Given the description of an element on the screen output the (x, y) to click on. 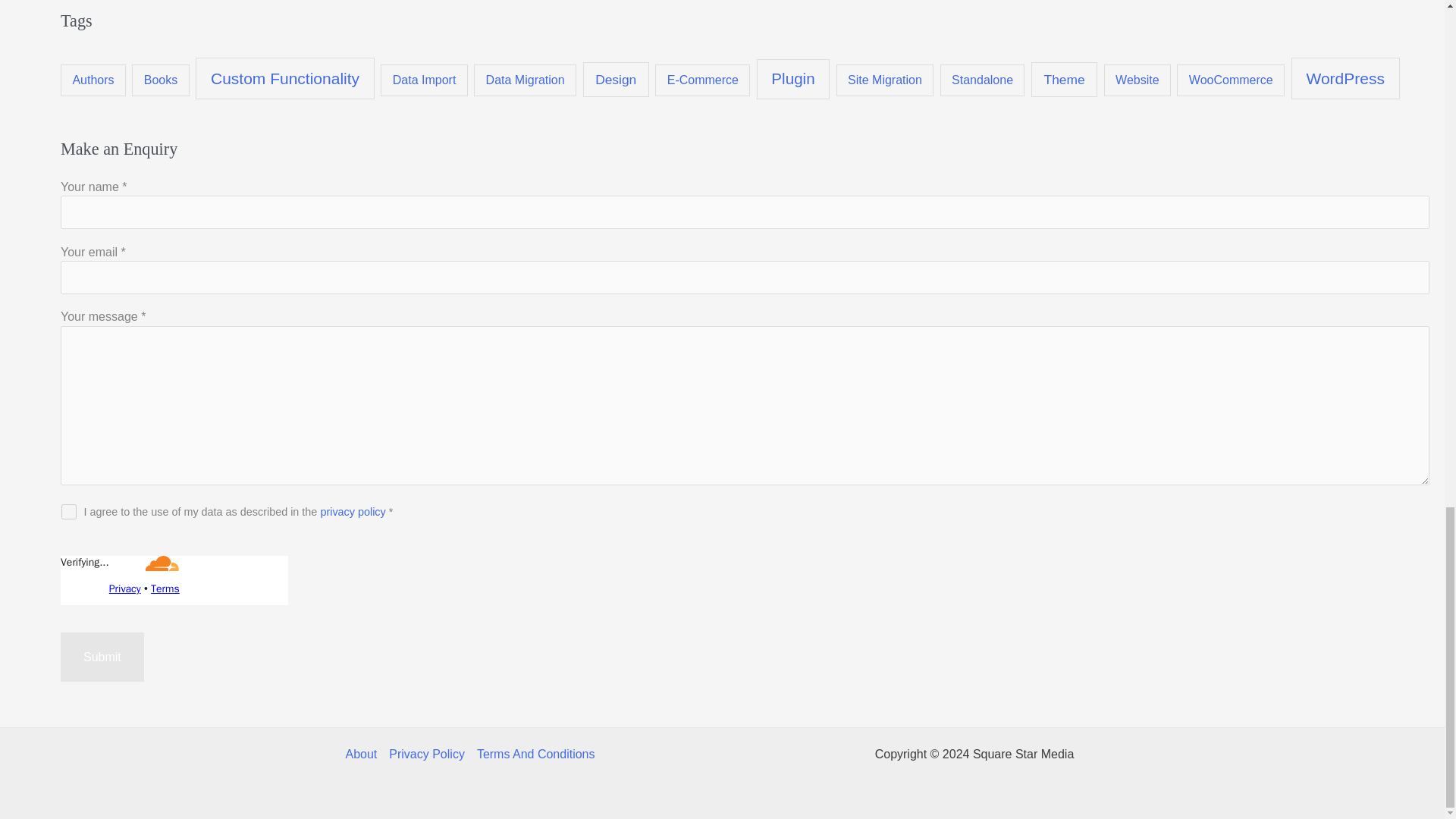
Authors (93, 80)
privacy policy (352, 511)
Design (614, 79)
Plugin (793, 78)
Data Import (423, 80)
Website (1136, 80)
Custom Functionality (284, 78)
E-Commerce (702, 80)
1 (69, 511)
About (363, 753)
Data Migration (525, 80)
Books (160, 80)
WooCommerce (1230, 80)
Site Migration (884, 80)
Submit (102, 657)
